Given the description of an element on the screen output the (x, y) to click on. 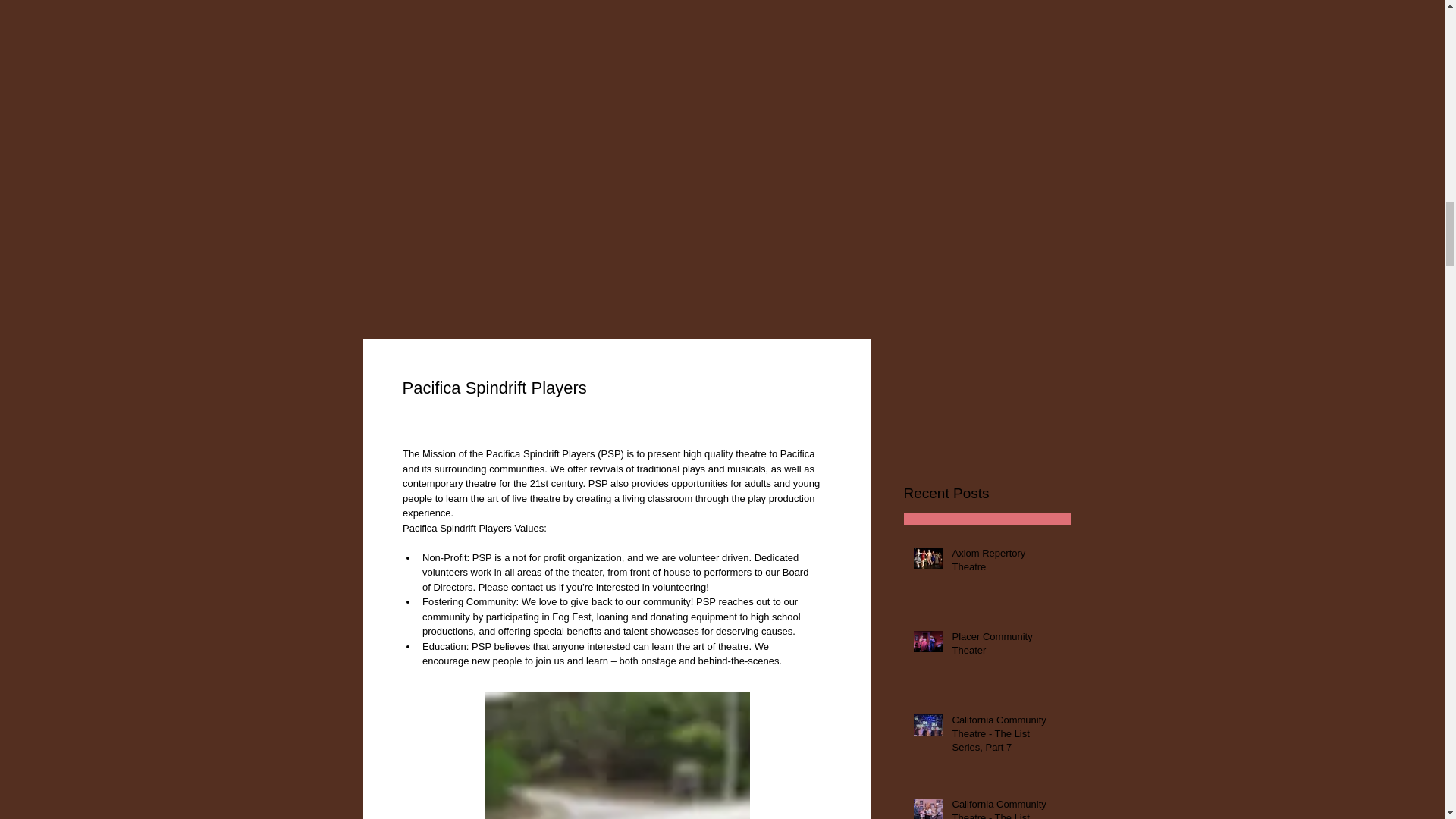
Placer Community Theater (1006, 646)
California Community Theatre - The List Series, Part 6 (1006, 808)
Axiom Repertory Theatre (1006, 563)
California Community Theatre - The List Series, Part 7 (1006, 737)
